Given the description of an element on the screen output the (x, y) to click on. 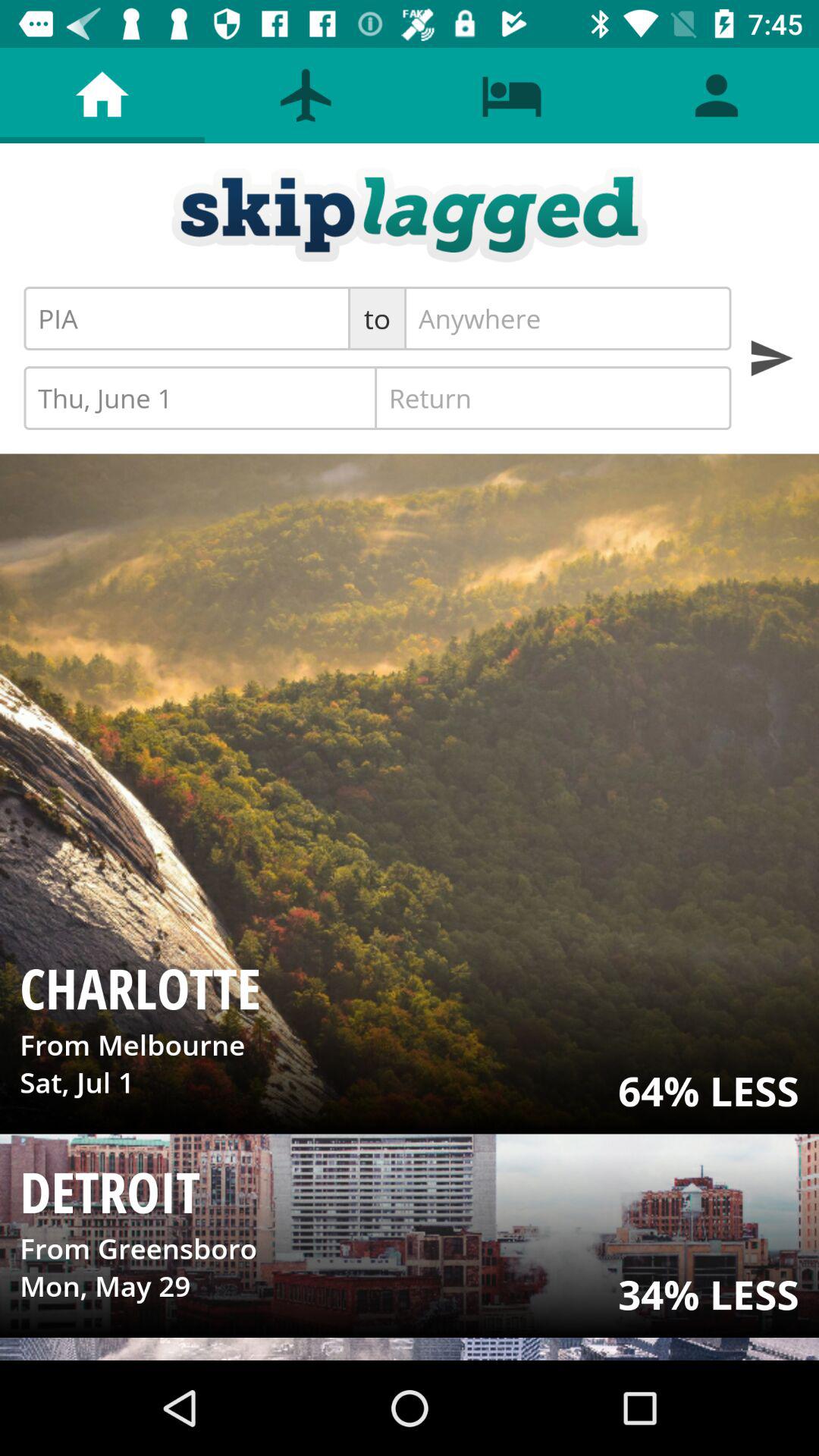
location (567, 318)
